Given the description of an element on the screen output the (x, y) to click on. 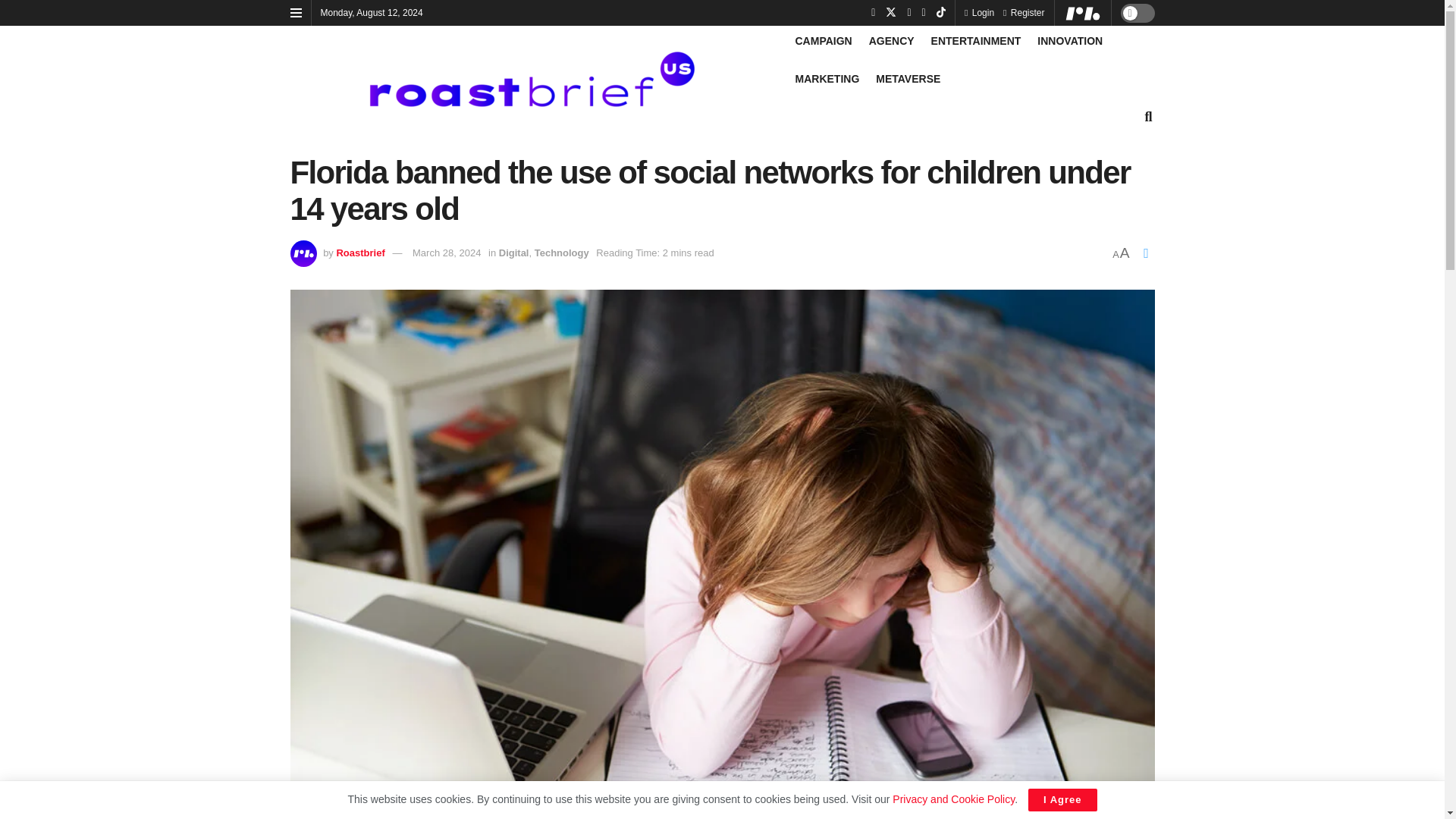
METAVERSE (908, 78)
Technology (561, 252)
INNOVATION (1069, 40)
Register (1023, 12)
AGENCY (891, 40)
ENTERTAINMENT (976, 40)
Digital (514, 252)
MARKETING (826, 78)
Login (978, 12)
CAMPAIGN (822, 40)
